Given the description of an element on the screen output the (x, y) to click on. 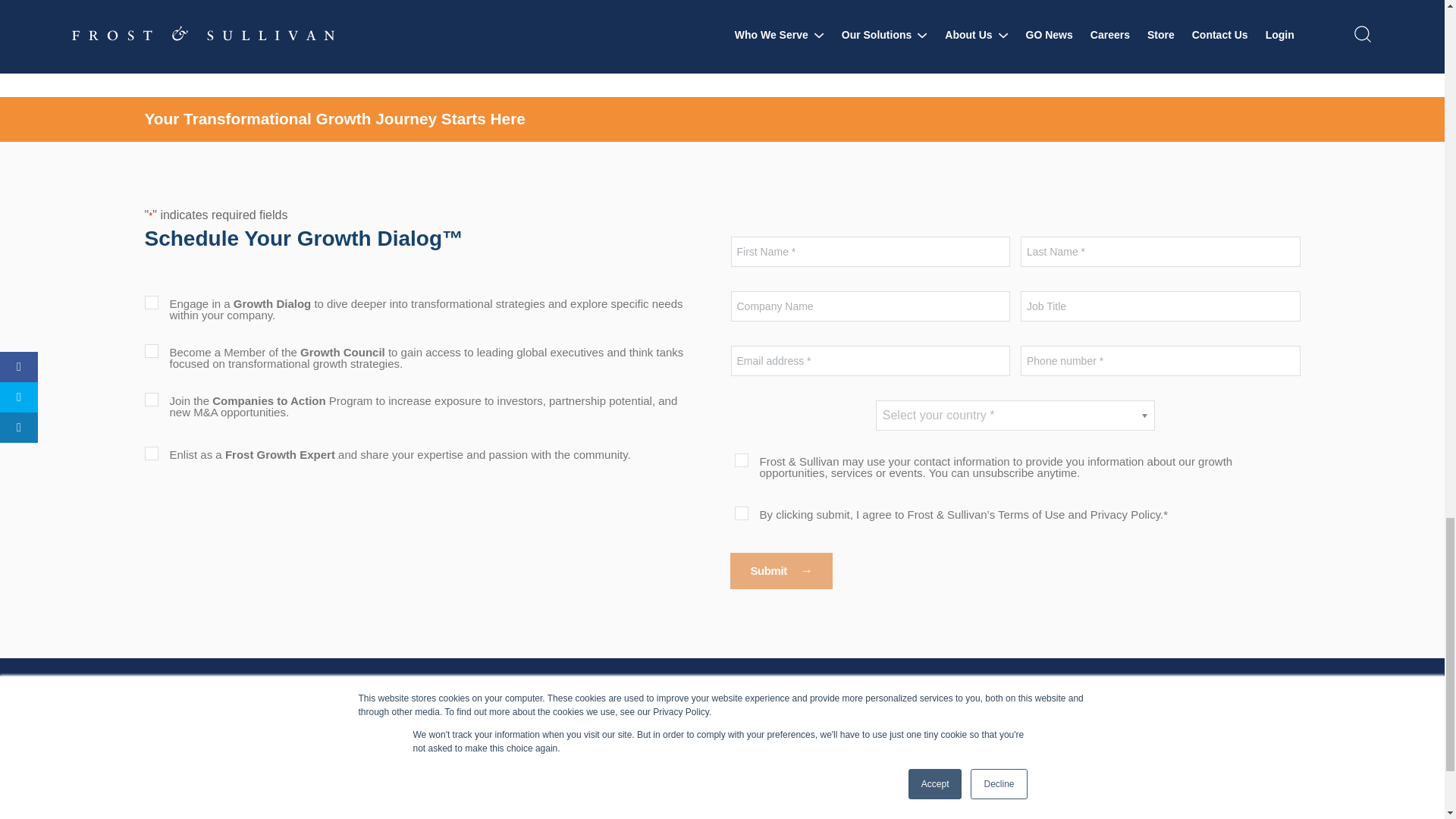
frostsullivanlogo (223, 717)
